Given the description of an element on the screen output the (x, y) to click on. 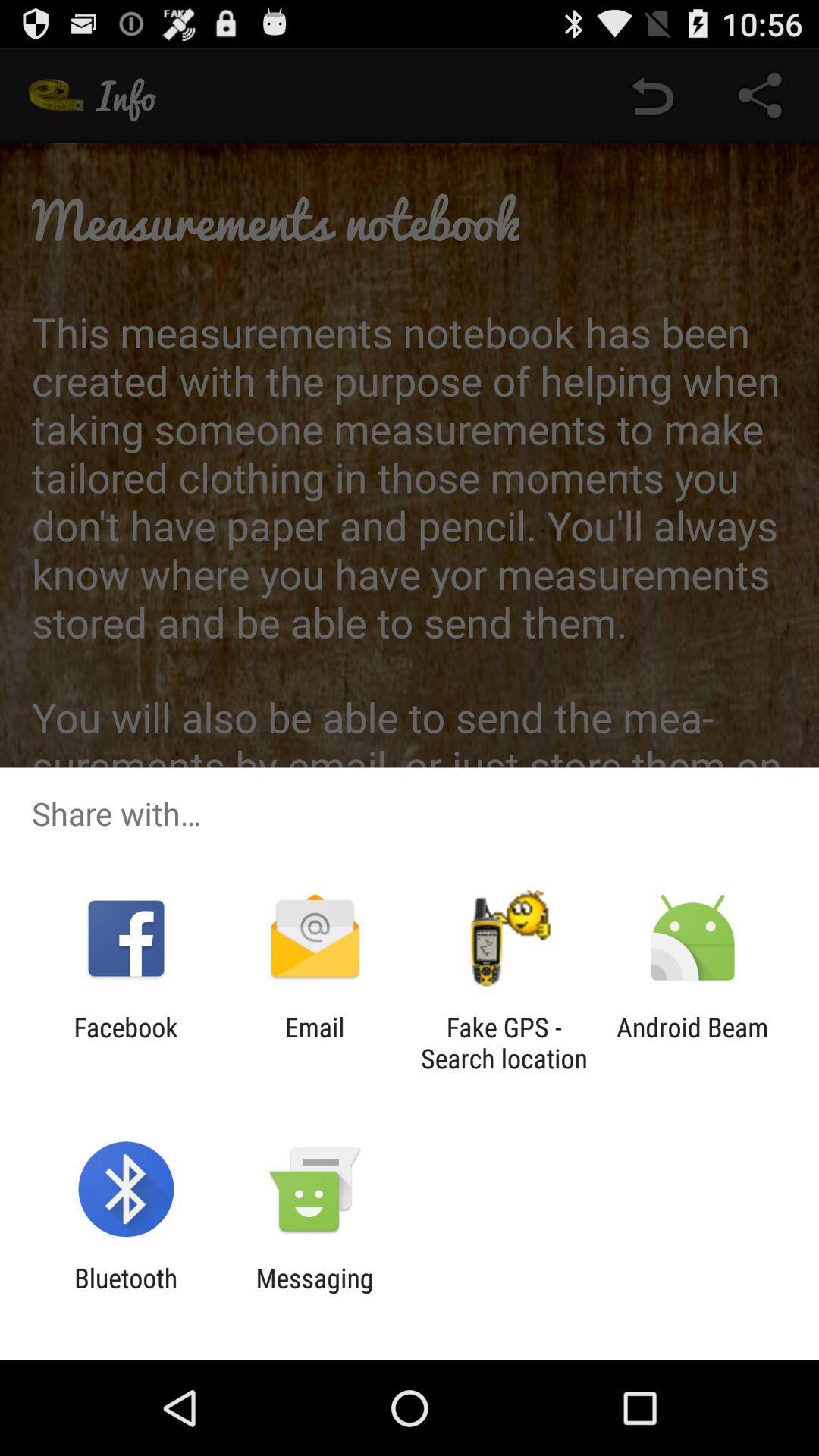
press item to the left of fake gps search app (314, 1042)
